Given the description of an element on the screen output the (x, y) to click on. 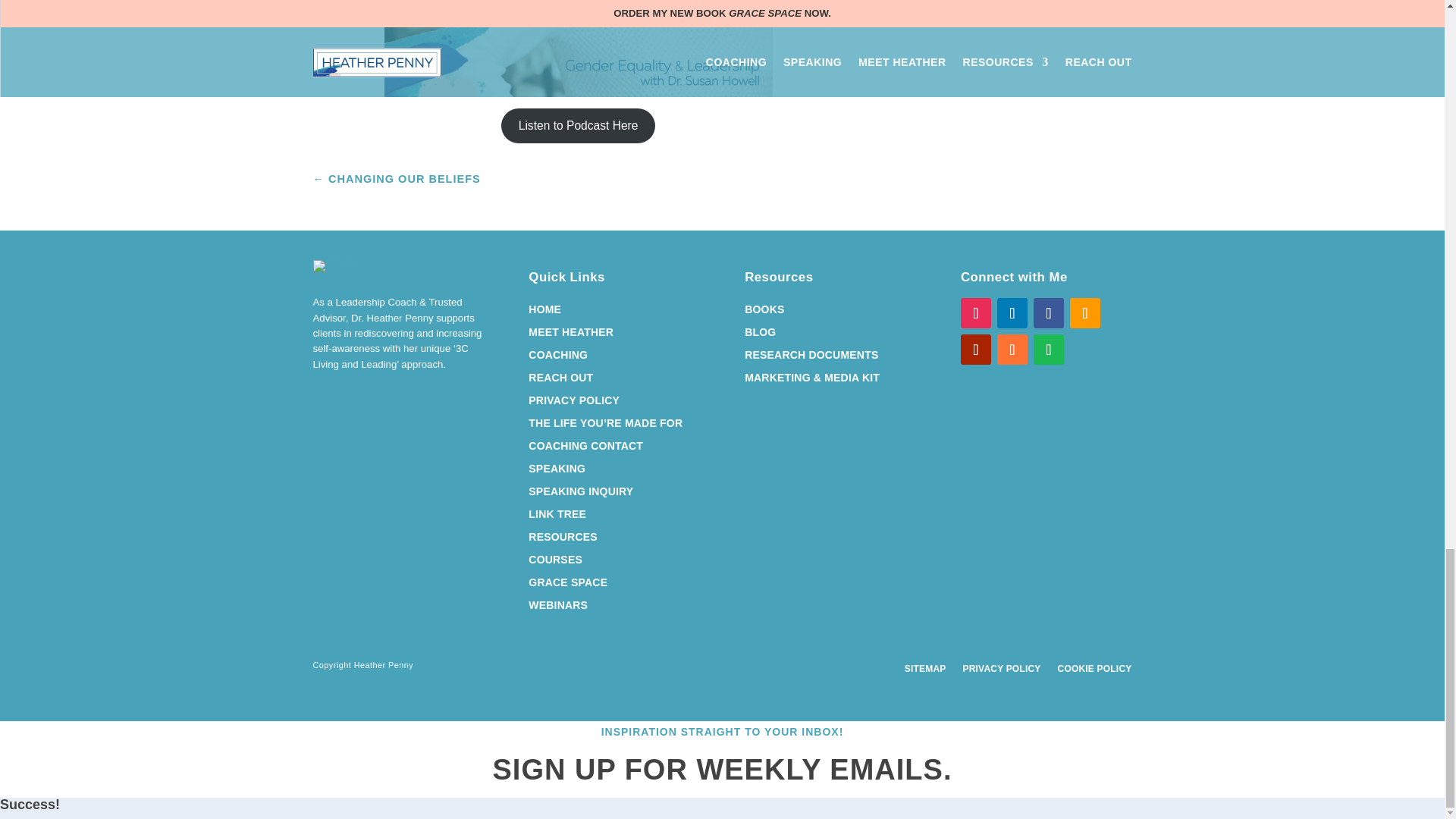
Follow on Facebook (1048, 313)
COACHING CONTACT (585, 448)
COACHING (558, 357)
PRIVACY POLICY (574, 402)
HOME (544, 312)
Follow on Spotify (1048, 349)
Follow on Amazon (1085, 313)
GRACE SPACE (567, 585)
Follow on LinkedIn (1012, 313)
REACH OUT (560, 380)
